Given the description of an element on the screen output the (x, y) to click on. 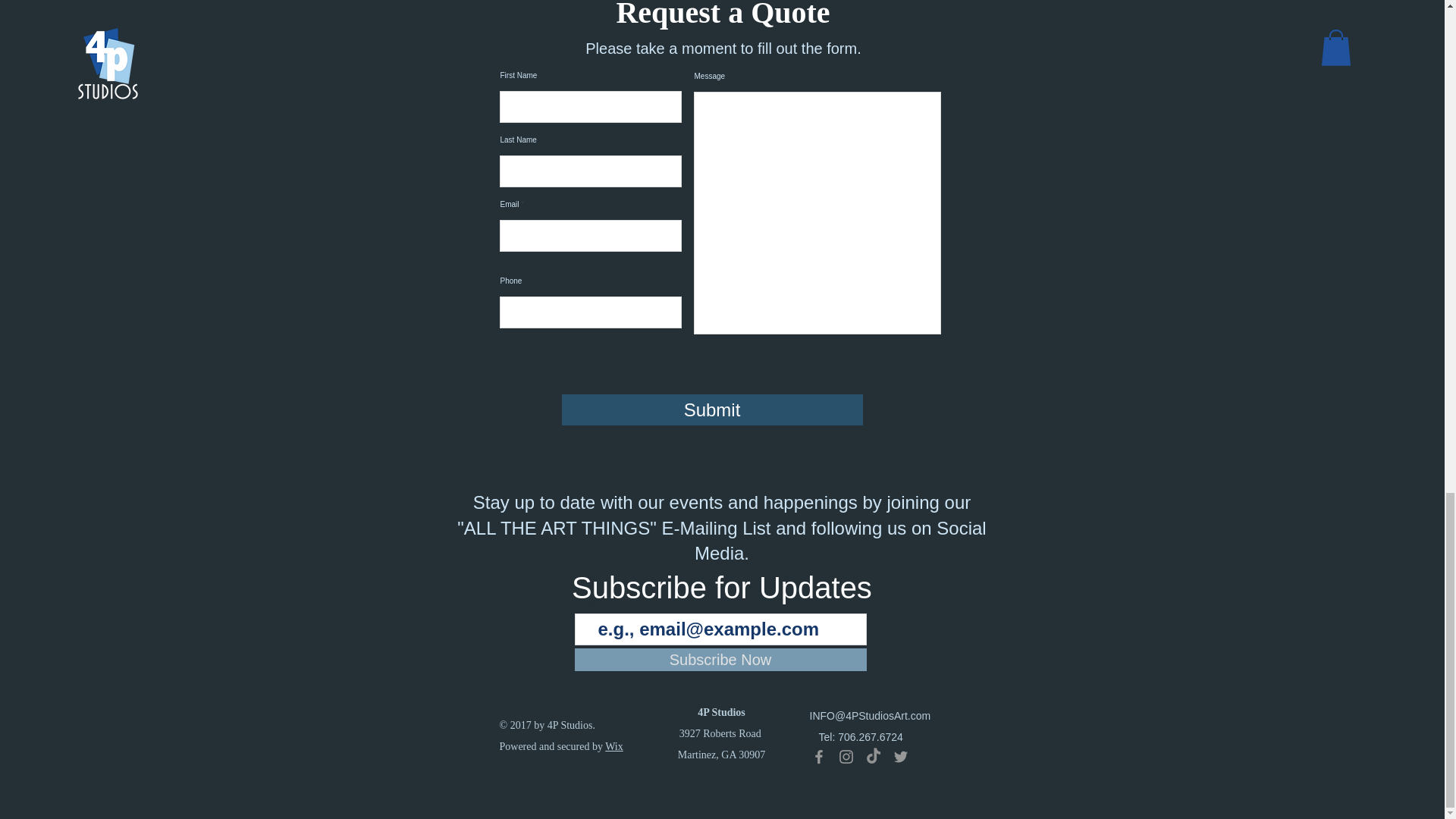
Wix (614, 746)
Submit (710, 409)
Subscribe Now (720, 659)
